Given the description of an element on the screen output the (x, y) to click on. 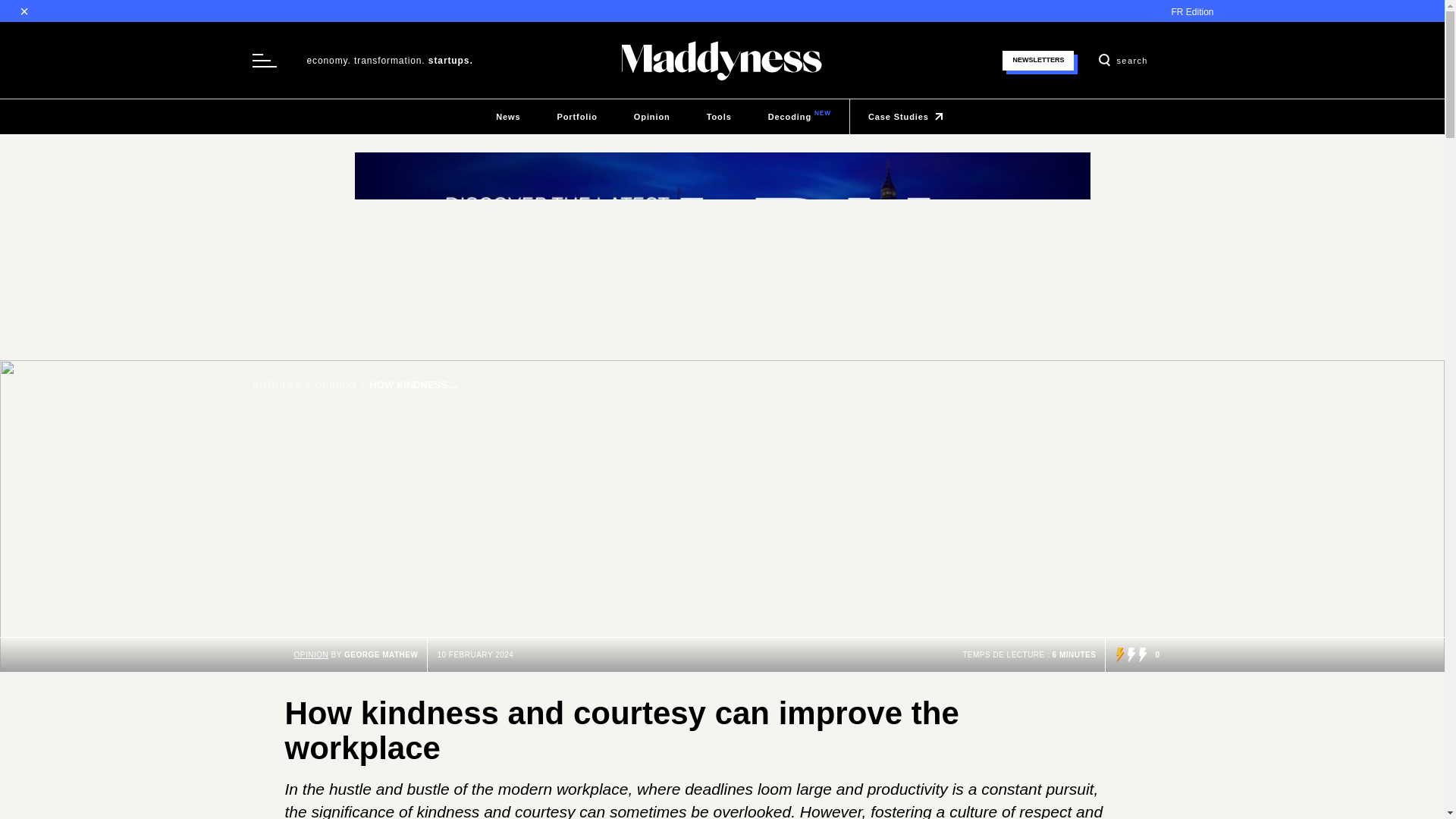
Case Studies (908, 116)
ARTICLES (282, 385)
Tools (718, 116)
Tools (718, 116)
News (507, 116)
Decoding (798, 116)
FR Edition (1191, 10)
OPINION (341, 385)
Opinion (341, 385)
Case studies (908, 116)
